Given the description of an element on the screen output the (x, y) to click on. 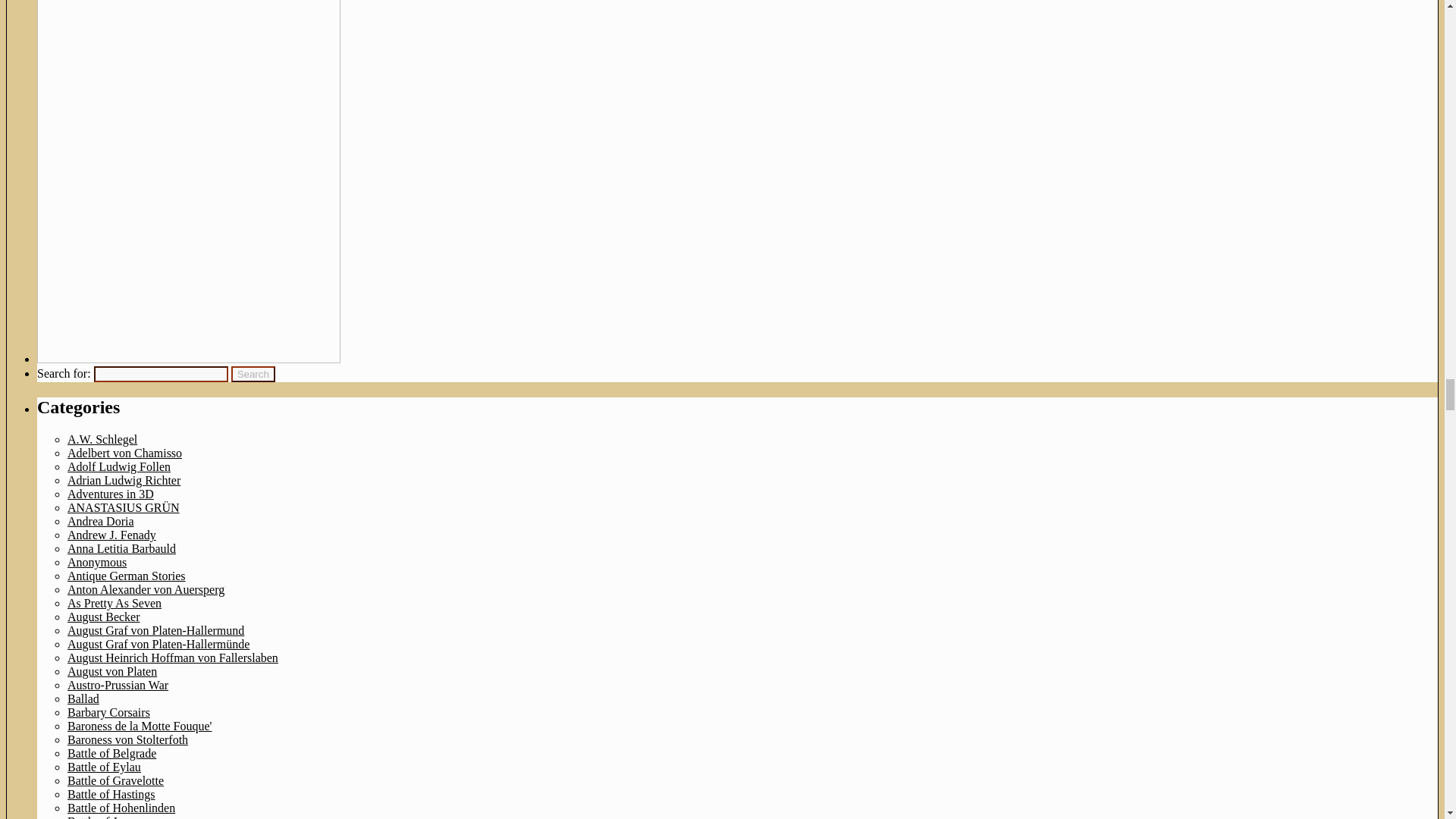
A.W. Schlegel (101, 439)
Ballad (82, 698)
Search (253, 374)
Barbary Corsairs (107, 712)
August Becker (102, 616)
August Graf von Platen-Hallermund (155, 630)
August Heinrich Hoffman von Fallerslaben (172, 657)
Antique German Stories (126, 575)
Adrian Ludwig Richter (123, 480)
Austro-Prussian War (117, 684)
Anton Alexander von Auersperg (145, 589)
Adelbert von Chamisso (124, 452)
Andrew J. Fenady (110, 534)
Anonymous (96, 562)
Adolf Ludwig Follen (118, 466)
